Given the description of an element on the screen output the (x, y) to click on. 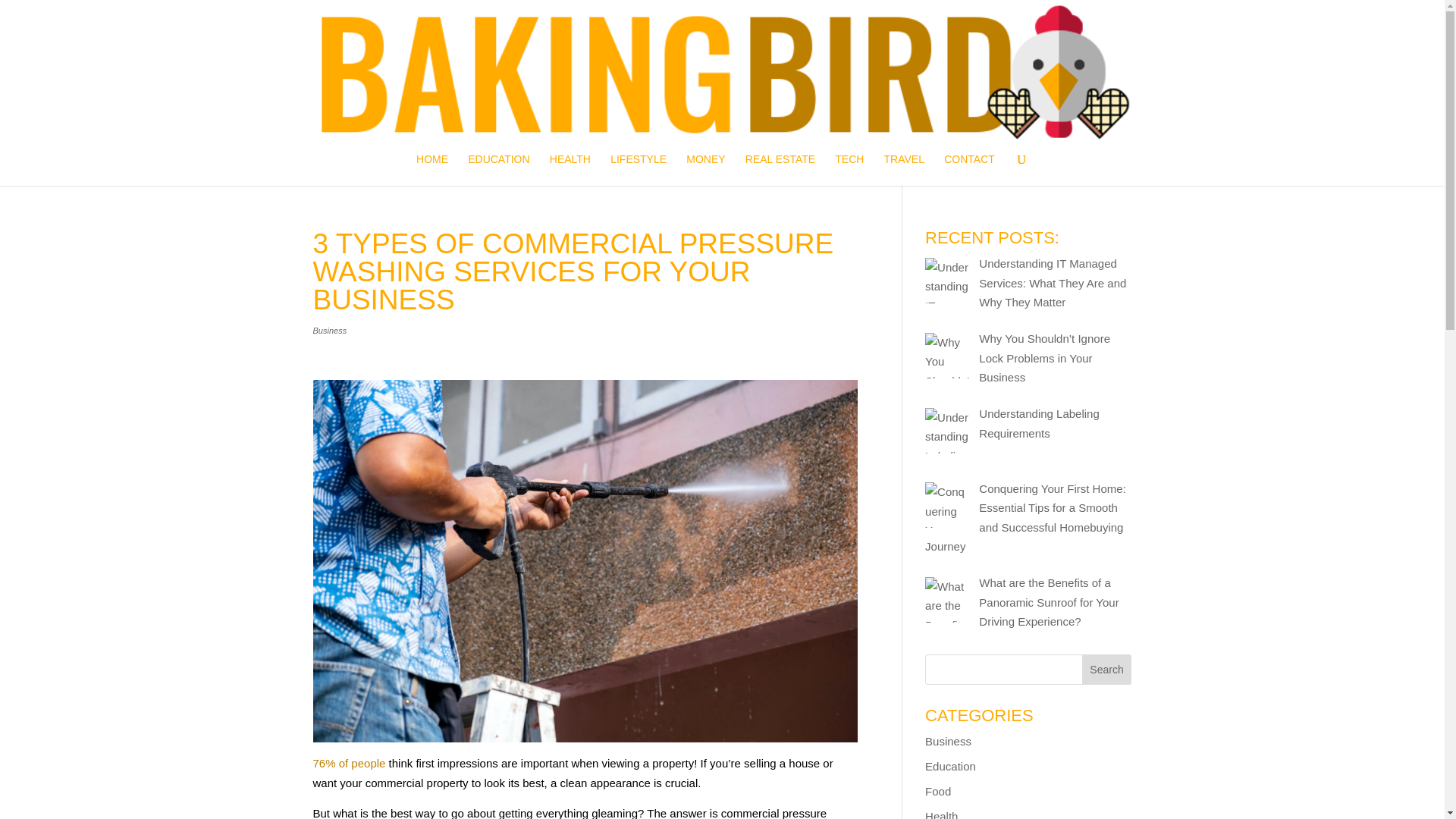
Health (941, 814)
TRAVEL (903, 169)
EDUCATION (498, 169)
Understanding Labeling Requirements (1038, 423)
HOME (432, 169)
CONTACT (968, 169)
Education (949, 766)
REAL ESTATE (780, 169)
Search (1106, 669)
